Given the description of an element on the screen output the (x, y) to click on. 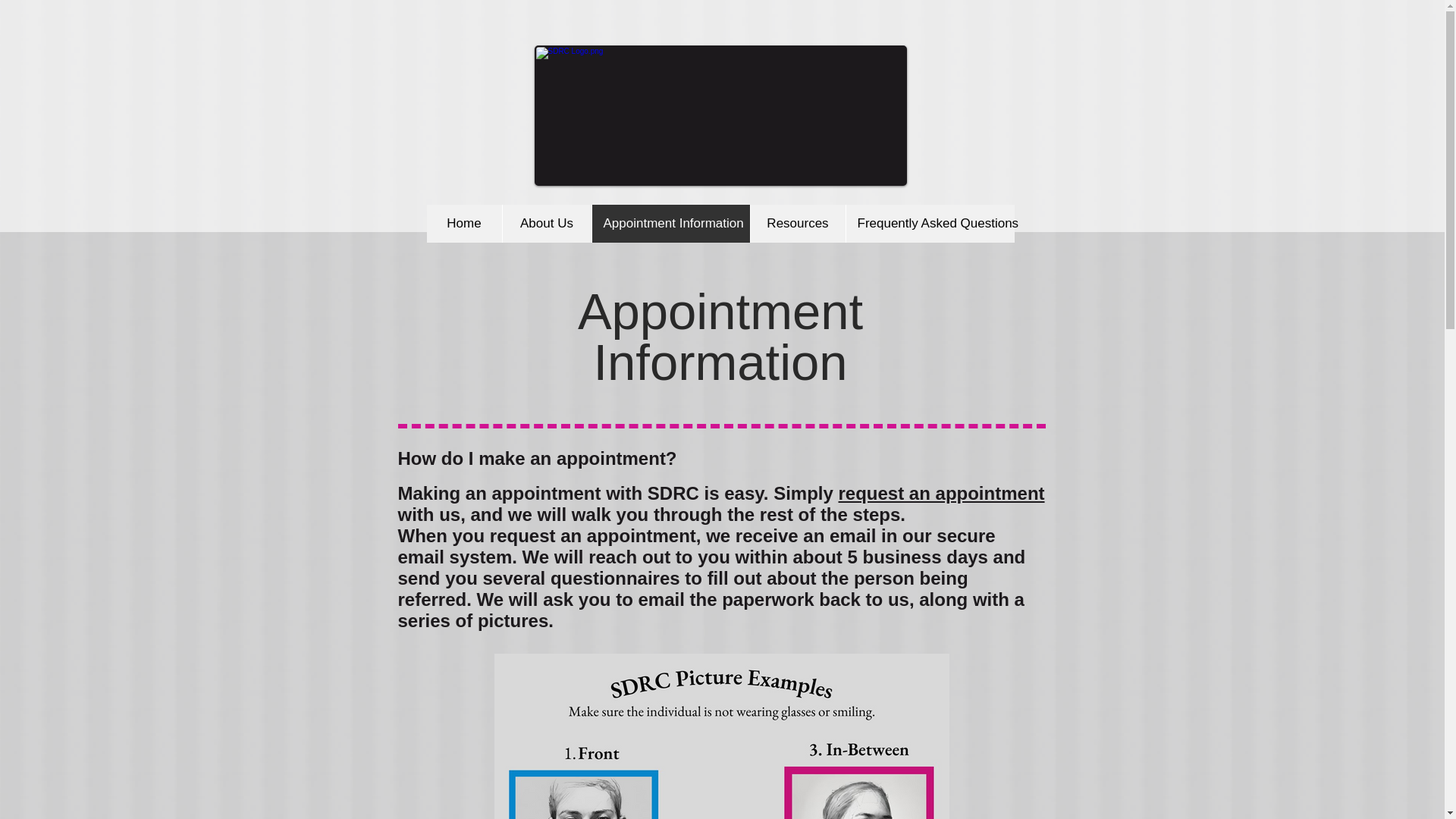
Home (463, 223)
request an appointment (941, 493)
About Us (546, 223)
Resources (796, 223)
Frequently Asked Questions (928, 223)
Appointment Information (670, 223)
